Given the description of an element on the screen output the (x, y) to click on. 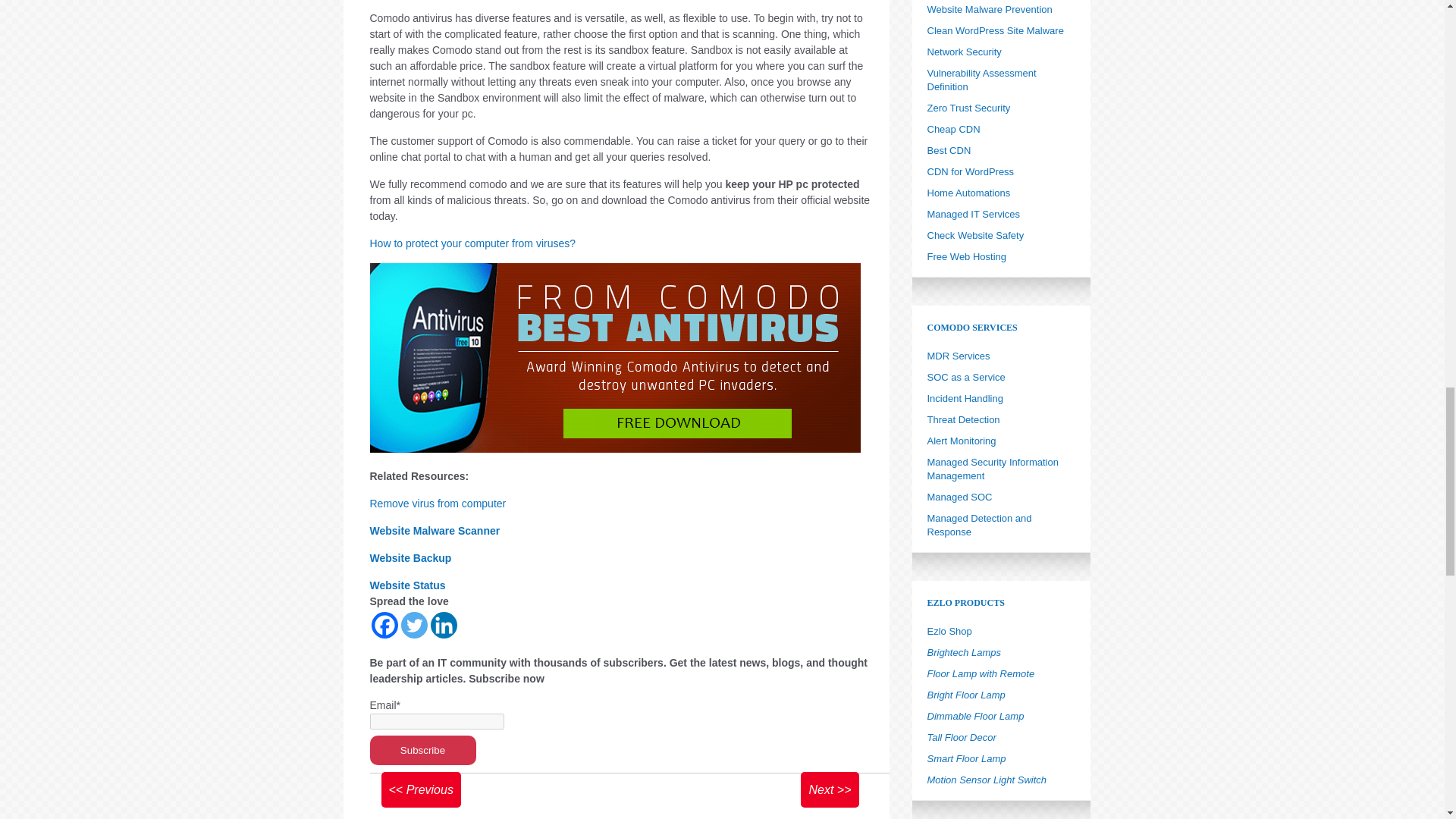
Linkedin (443, 624)
Subscribe (422, 749)
Subscribe (422, 749)
Website Malware Scanner (434, 530)
Twitter (413, 624)
Remove virus from computer (437, 503)
Website Backup (410, 558)
Facebook (384, 624)
Website Status (407, 585)
How to protect your computer from viruses? (472, 242)
